Given the description of an element on the screen output the (x, y) to click on. 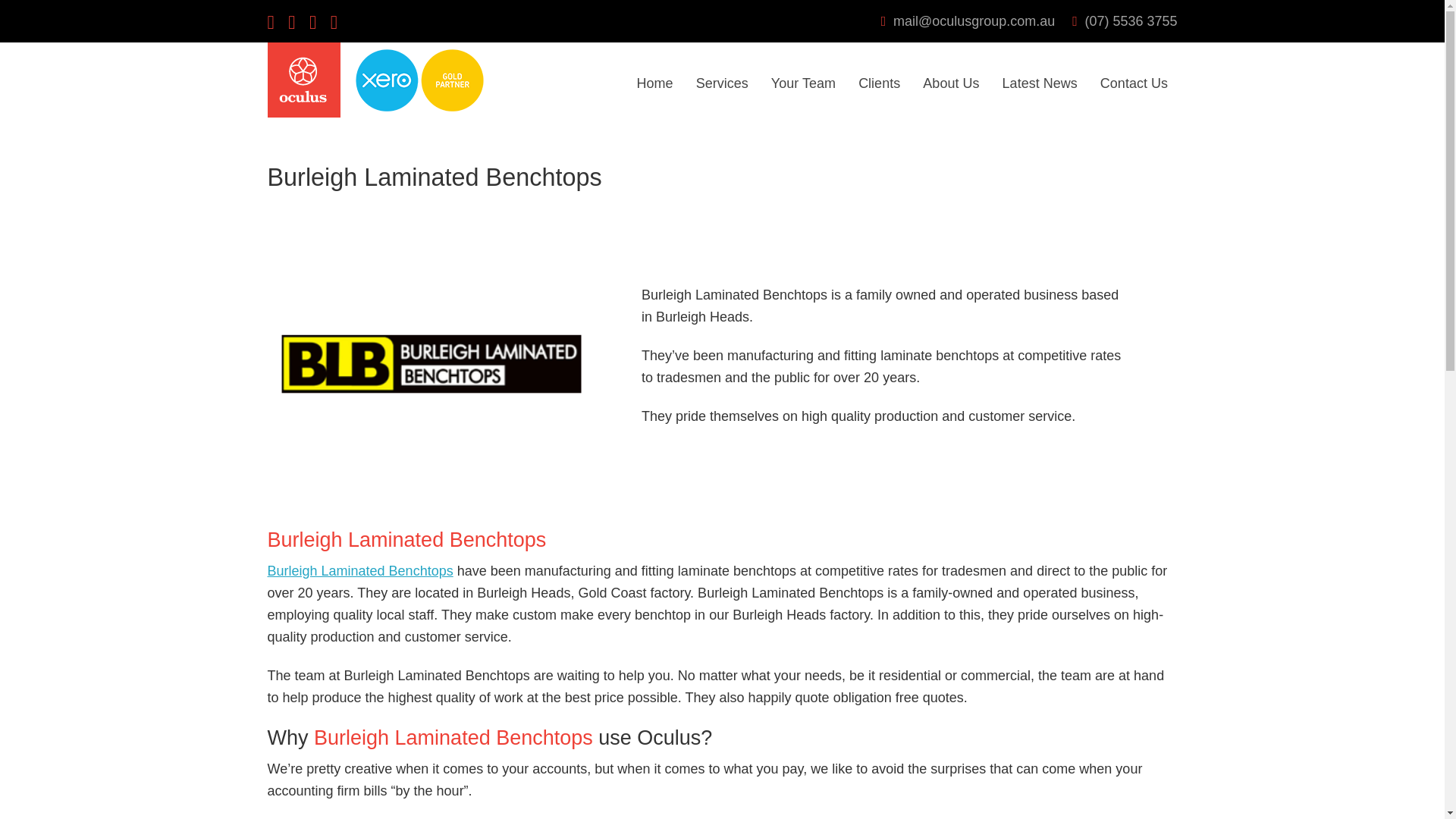
Oculus Group (302, 112)
Contact Us (1133, 83)
Burleigh Laminated Benchtops (359, 570)
Home (654, 83)
Services (721, 83)
Clients (879, 83)
Latest News (1039, 83)
About Us (951, 83)
Your Team (802, 83)
